Given the description of an element on the screen output the (x, y) to click on. 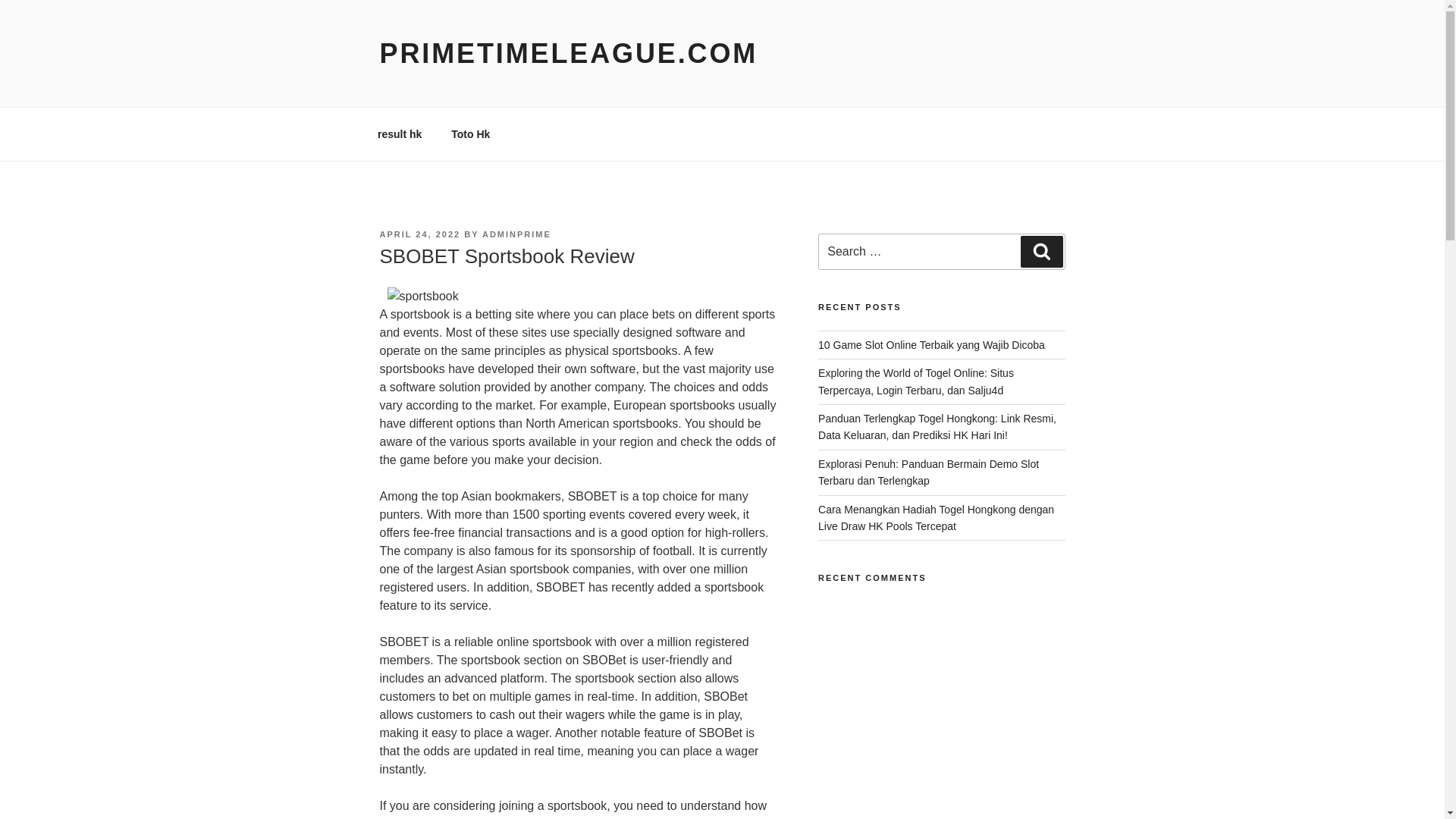
PRIMETIMELEAGUE.COM (567, 52)
Toto Hk (470, 133)
APRIL 24, 2022 (419, 234)
10 Game Slot Online Terbaik yang Wajib Dicoba (931, 345)
Search (1041, 251)
ADMINPRIME (516, 234)
result hk (398, 133)
